Given the description of an element on the screen output the (x, y) to click on. 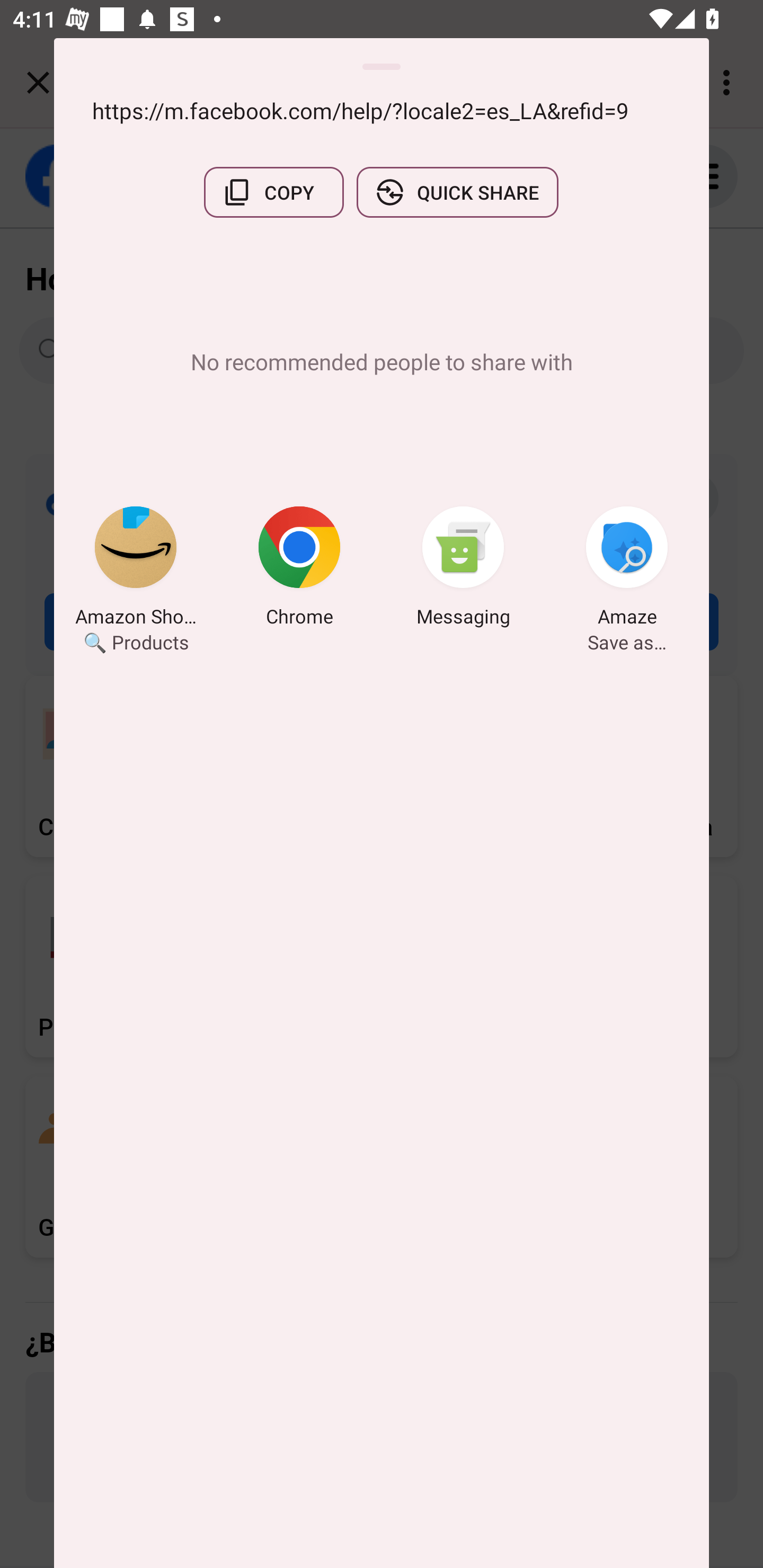
COPY (273, 191)
QUICK SHARE (457, 191)
Amazon Shopping 🔍 Products (135, 569)
Chrome (299, 569)
Messaging (463, 569)
Amaze Save as… (626, 569)
